Given the description of an element on the screen output the (x, y) to click on. 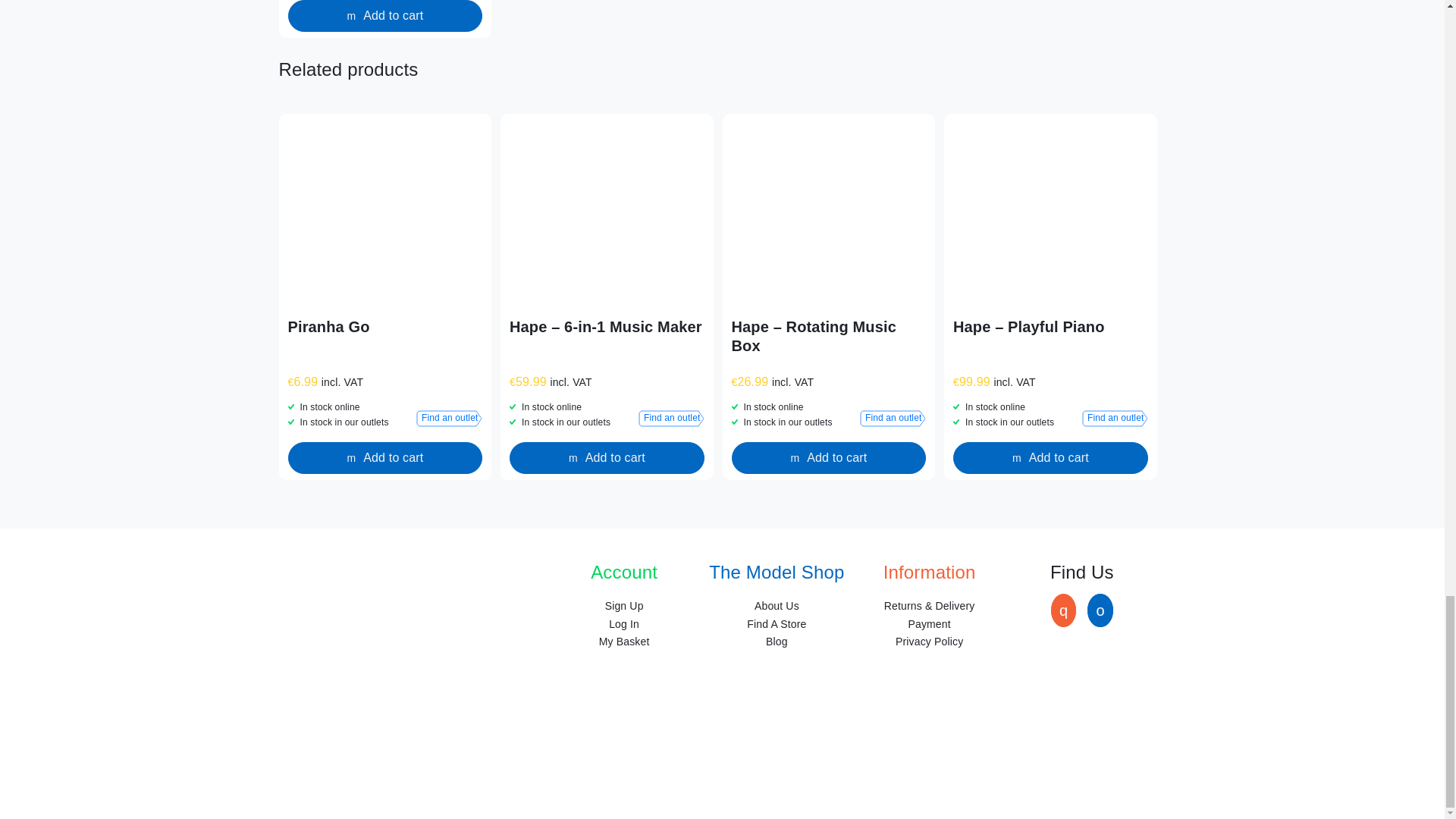
Find an outlet (1114, 418)
Find an outlet (671, 418)
Find an outlet (448, 418)
Find an outlet (893, 418)
